Given the description of an element on the screen output the (x, y) to click on. 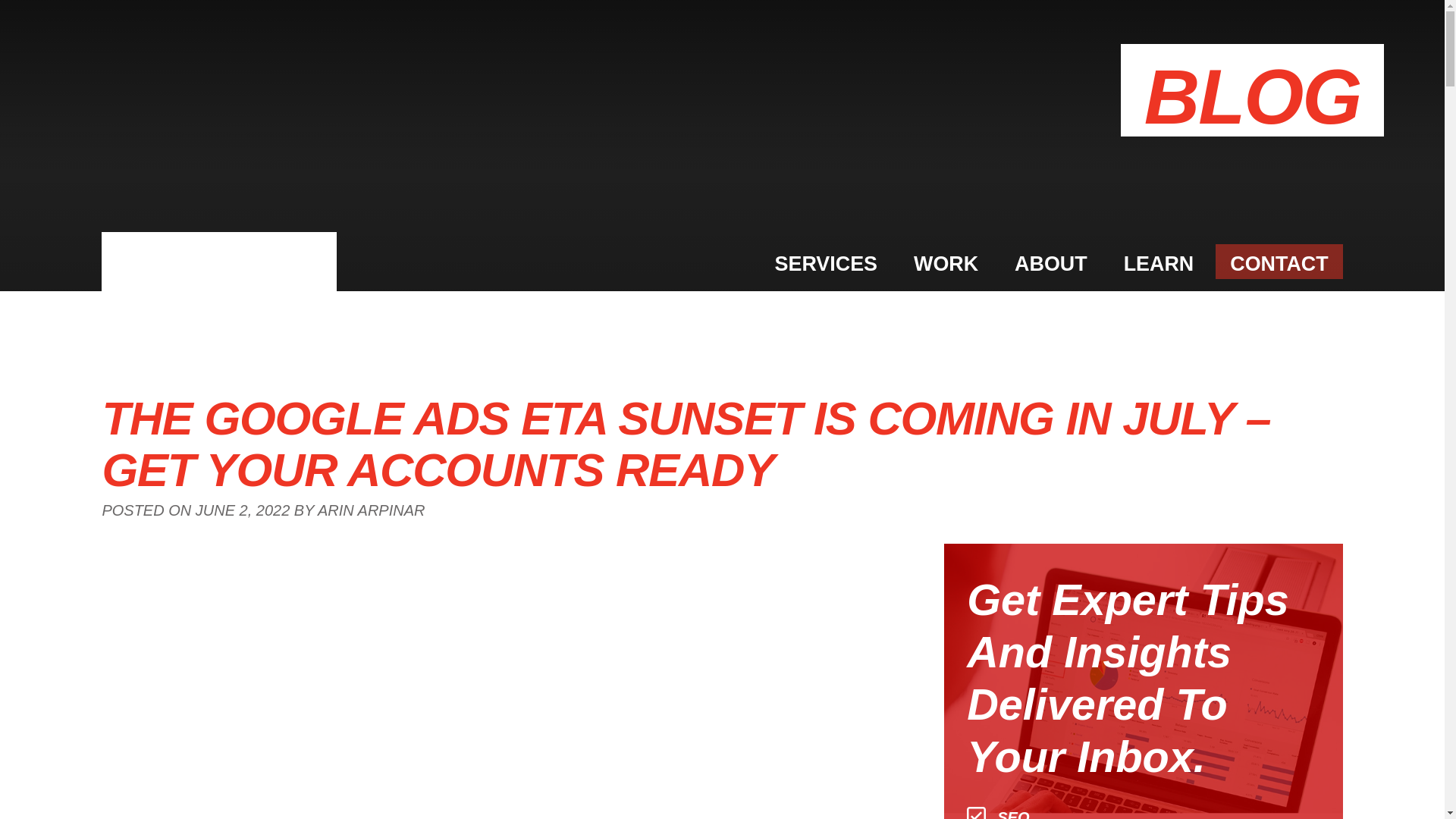
ABOUT (1051, 261)
SERVICES (825, 261)
LEARN (1158, 261)
WORK (945, 261)
